Given the description of an element on the screen output the (x, y) to click on. 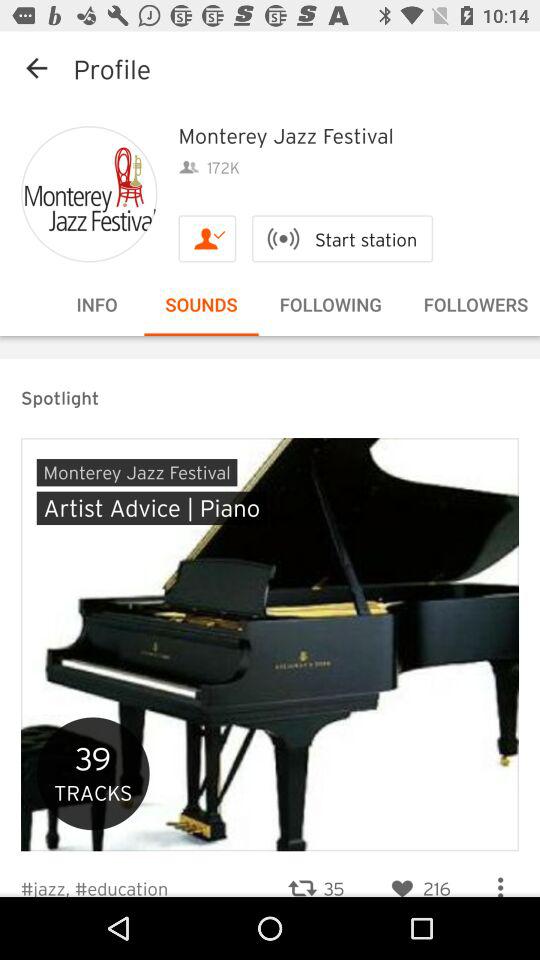
open options menu (500, 879)
